Given the description of an element on the screen output the (x, y) to click on. 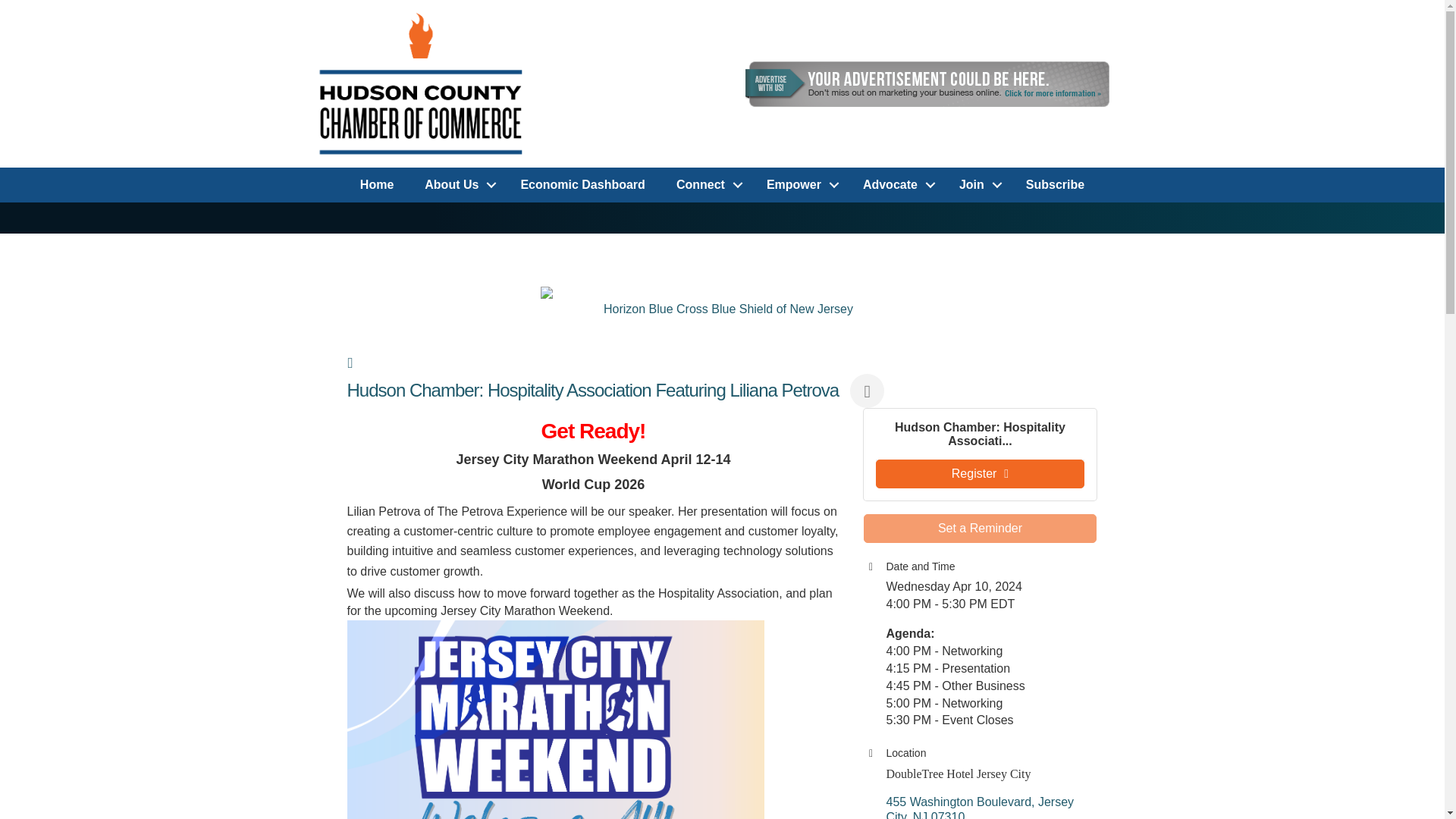
Economic Dashboard (582, 185)
Home (377, 185)
Advocate (895, 185)
Join (976, 185)
Empower (799, 185)
Connect (706, 185)
CHAMBER LOGO RGB 2023 (421, 83)
About Us (456, 185)
Subscribe (1054, 185)
